Given the description of an element on the screen output the (x, y) to click on. 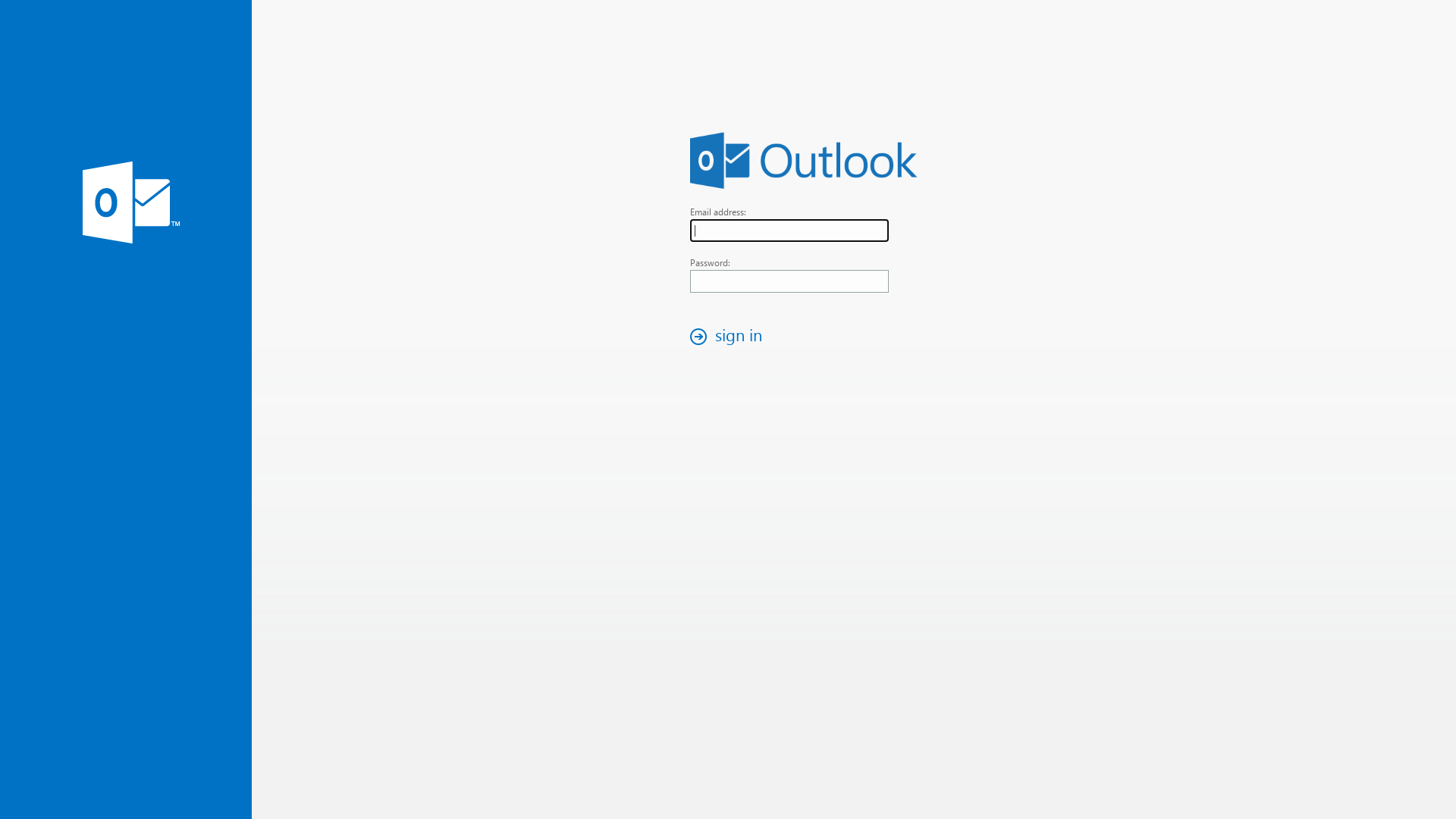
sign in Element type: text (730, 336)
